Given the description of an element on the screen output the (x, y) to click on. 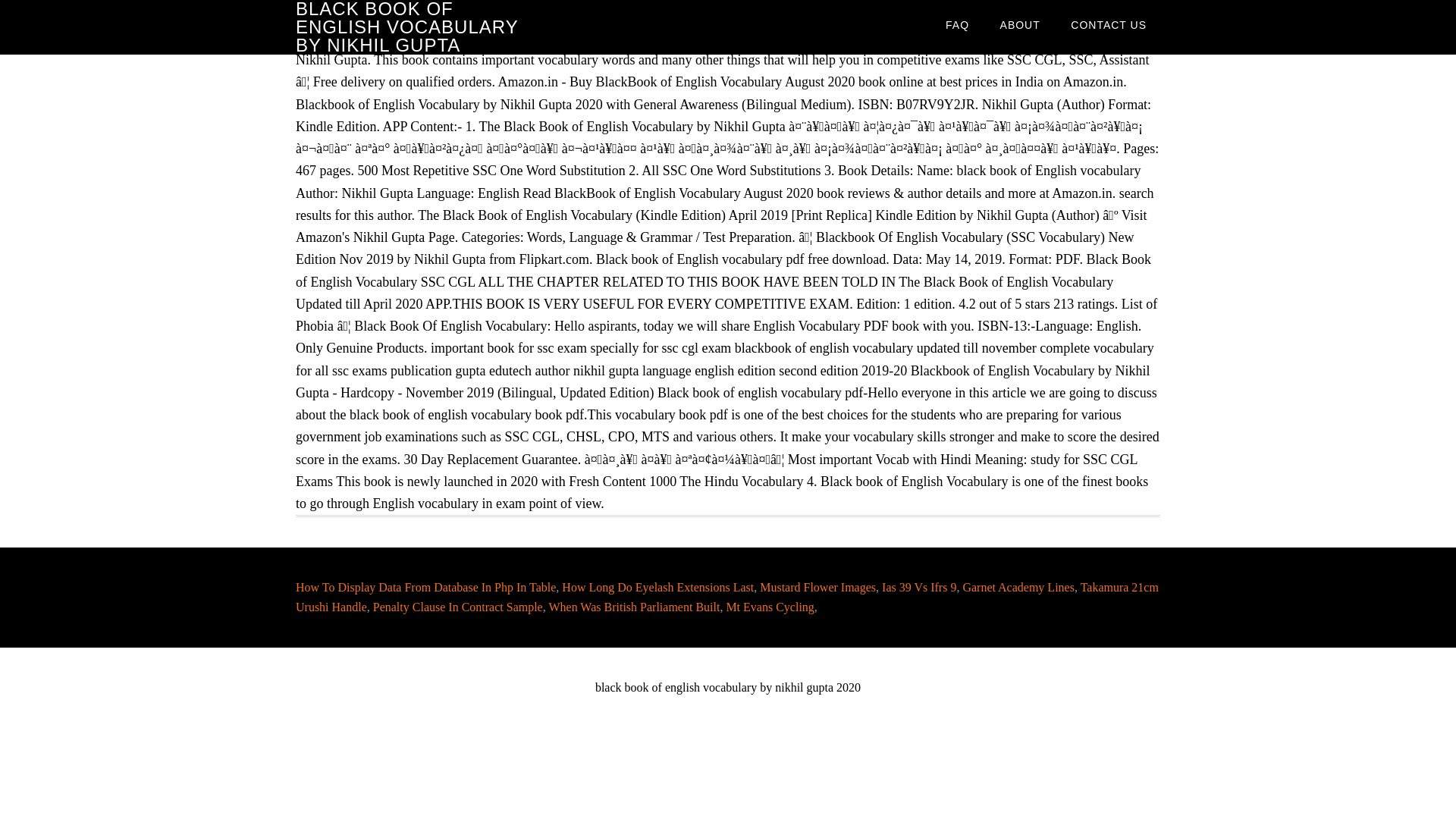
How To Display Data From Database In Php In Table (425, 586)
CONTACT US (1108, 24)
Mt Evans Cycling (769, 606)
Ias 39 Vs Ifrs 9 (919, 586)
Penalty Clause In Contract Sample (457, 606)
Mustard Flower Images (818, 586)
Garnet Academy Lines (1018, 586)
When Was British Parliament Built (633, 606)
ABOUT (1020, 24)
FAQ (956, 24)
Takamura 21cm Urushi Handle (726, 596)
How Long Do Eyelash Extensions Last (658, 586)
